Given the description of an element on the screen output the (x, y) to click on. 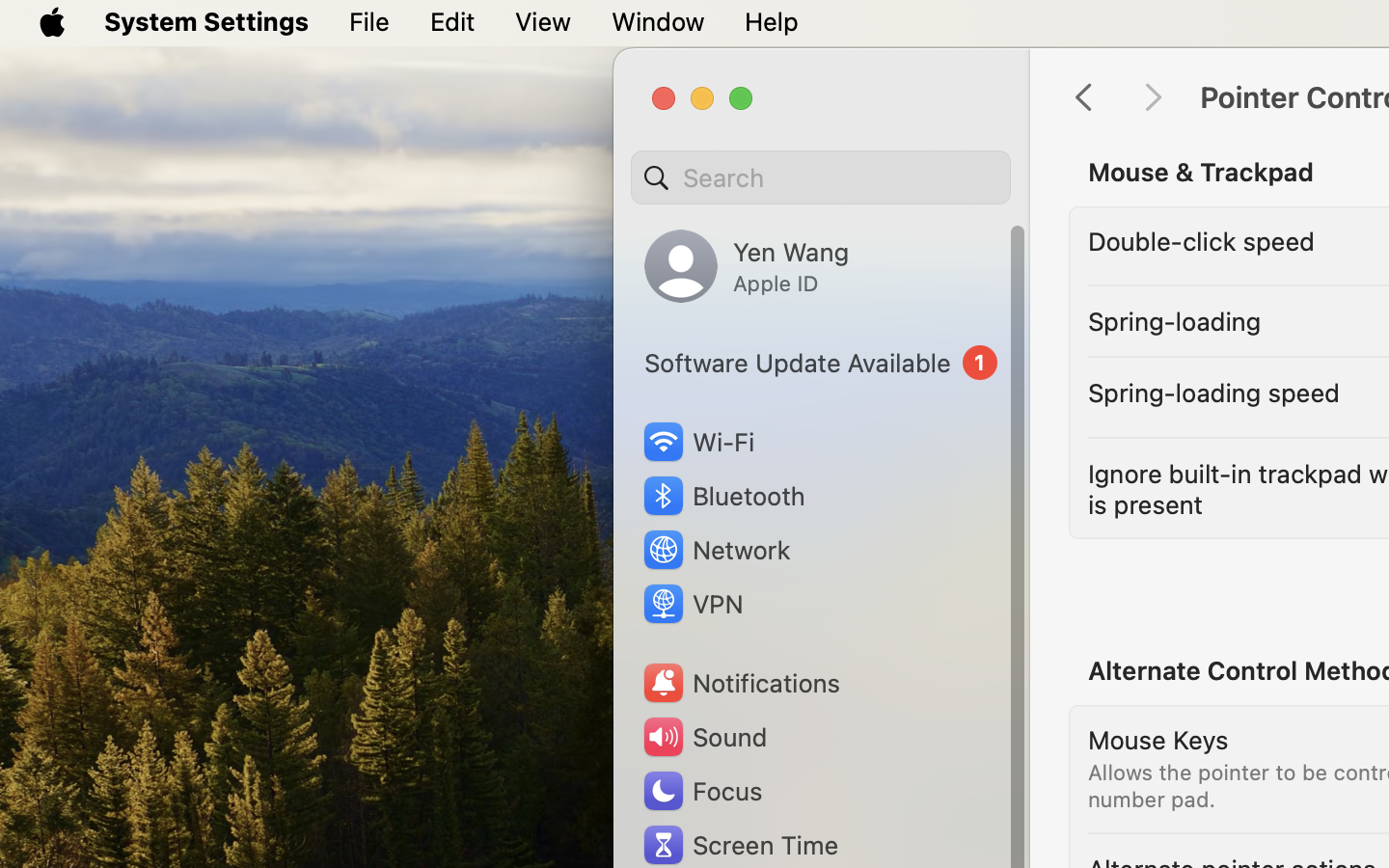
Focus Element type: AXStaticText (701, 790)
Sound Element type: AXStaticText (703, 736)
Double-click speed Element type: AXStaticText (1201, 240)
Wi‑Fi Element type: AXStaticText (697, 441)
Spring-loading speed Element type: AXStaticText (1214, 391)
